Given the description of an element on the screen output the (x, y) to click on. 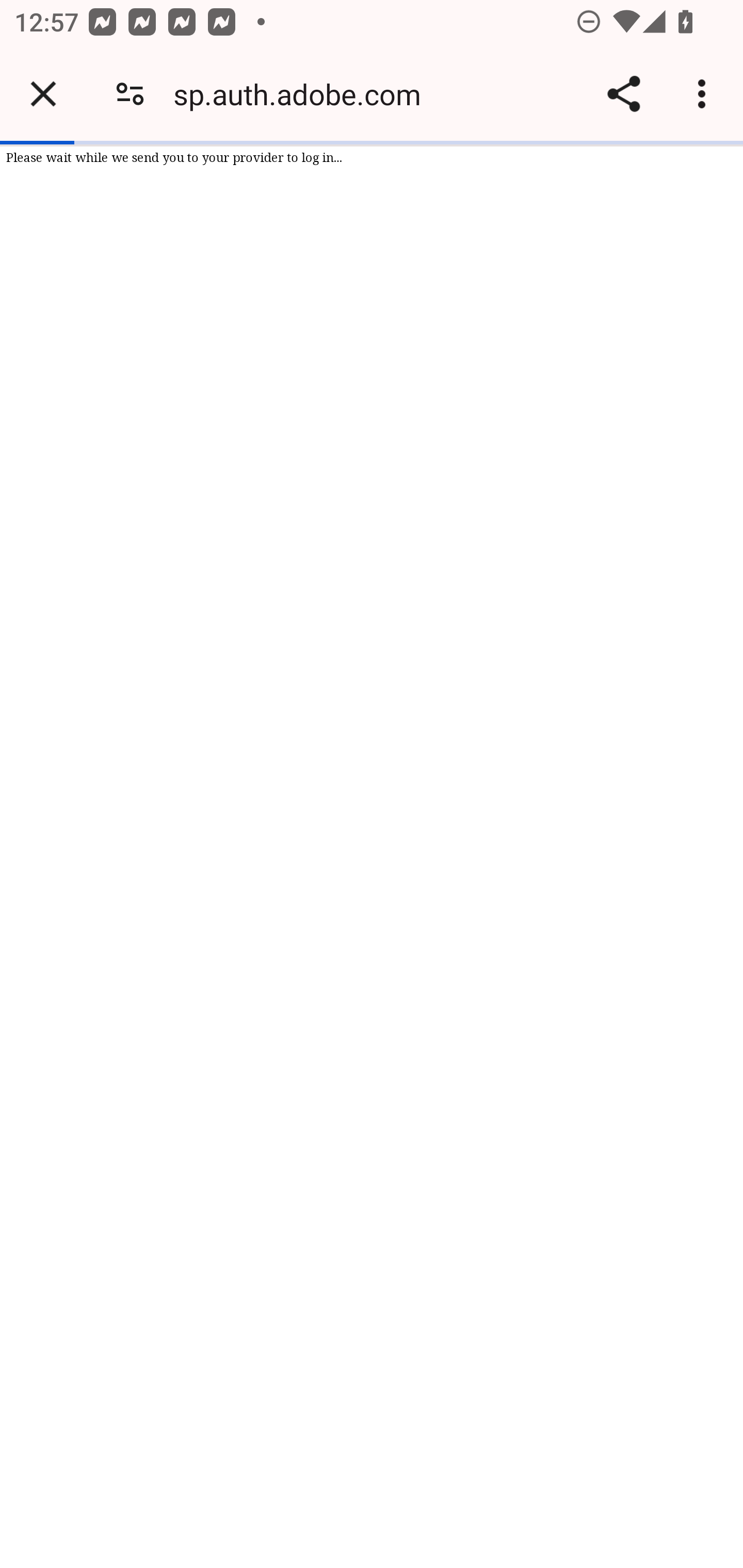
Close tab (43, 93)
Share (623, 93)
Customize and control Google Chrome (705, 93)
Connection is secure (129, 93)
sp.auth.adobe.com (304, 93)
